Given the description of an element on the screen output the (x, y) to click on. 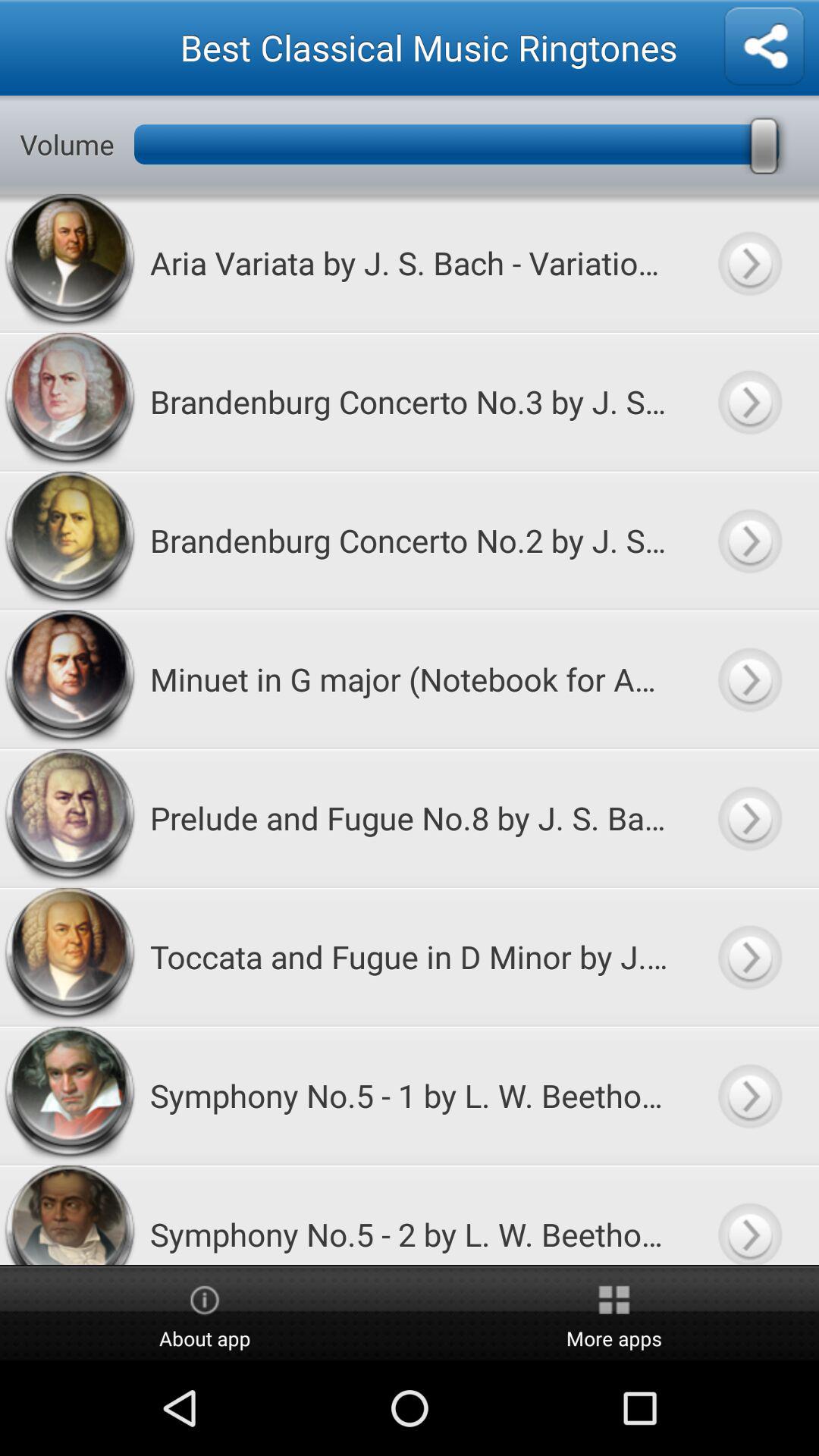
toggle to play (749, 401)
